Given the description of an element on the screen output the (x, y) to click on. 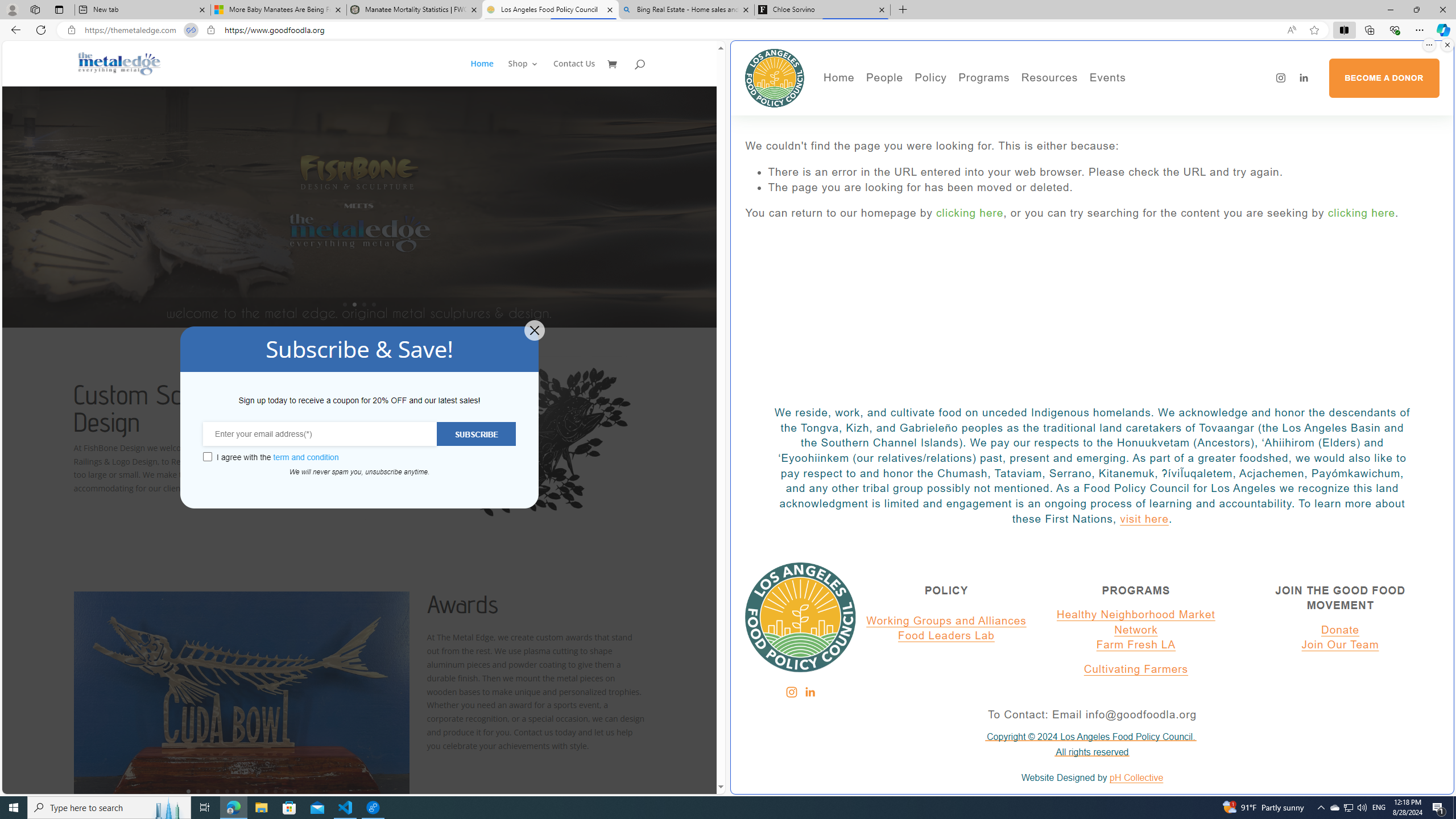
12 (294, 790)
Close split screen. (1447, 45)
Enter your email address(*) (319, 433)
Instagram (790, 692)
Shop3 (529, 72)
BECOME A DONOR (1383, 77)
Healthy Markets LA (1015, 99)
9 (265, 790)
LinkedIn (809, 692)
term and condition (306, 456)
